Given the description of an element on the screen output the (x, y) to click on. 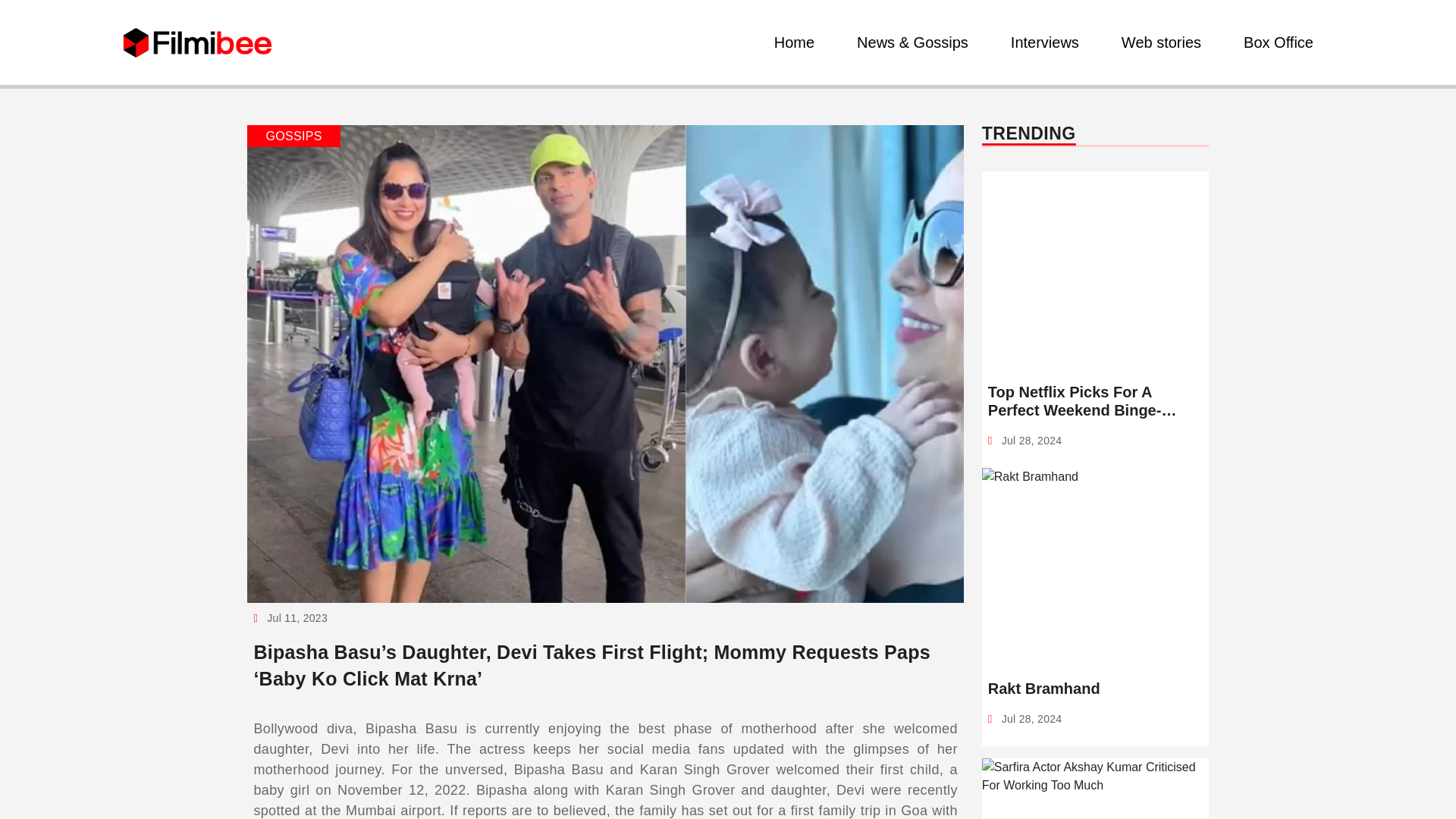
Rakt Bramhand (1095, 688)
Home (794, 42)
Box Office (1278, 42)
Web stories (1161, 42)
Top Netflix Picks For A Perfect Weekend Binge-Watch (1095, 401)
Interviews (1044, 42)
